Given the description of an element on the screen output the (x, y) to click on. 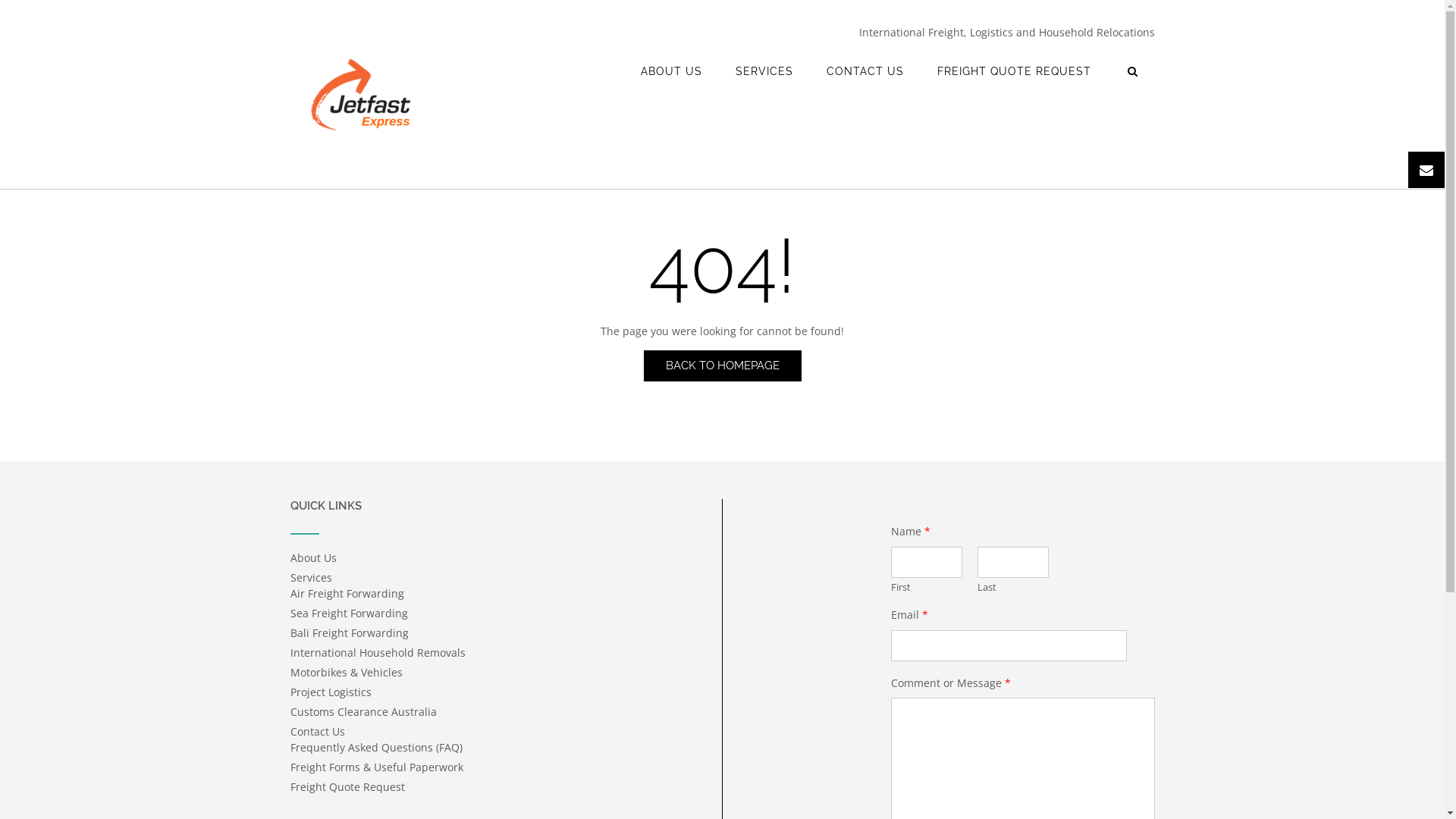
CONTACT US Element type: text (864, 71)
ABOUT US Element type: text (670, 71)
Freight Forms & Useful Paperwork Element type: text (375, 766)
Customs Clearance Australia Element type: text (362, 711)
Project Logistics Element type: text (329, 691)
Frequently Asked Questions (FAQ) Element type: text (375, 747)
Sea Freight Forwarding Element type: text (348, 612)
Air Freight Forwarding Element type: text (346, 593)
Services Element type: text (310, 577)
Send us an email Element type: hover (1426, 169)
About Us Element type: text (312, 557)
Jetfast Express - Freight, Logistics and Home Relocations Element type: hover (361, 95)
SERVICES Element type: text (763, 71)
Bali Freight Forwarding Element type: text (348, 632)
BACK TO HOMEPAGE Element type: text (721, 365)
Motorbikes & Vehicles Element type: text (345, 672)
International Household Removals Element type: text (376, 652)
FREIGHT QUOTE REQUEST Element type: text (1013, 71)
Freight Quote Request Element type: text (346, 786)
Contact Us Element type: text (316, 731)
